Given the description of an element on the screen output the (x, y) to click on. 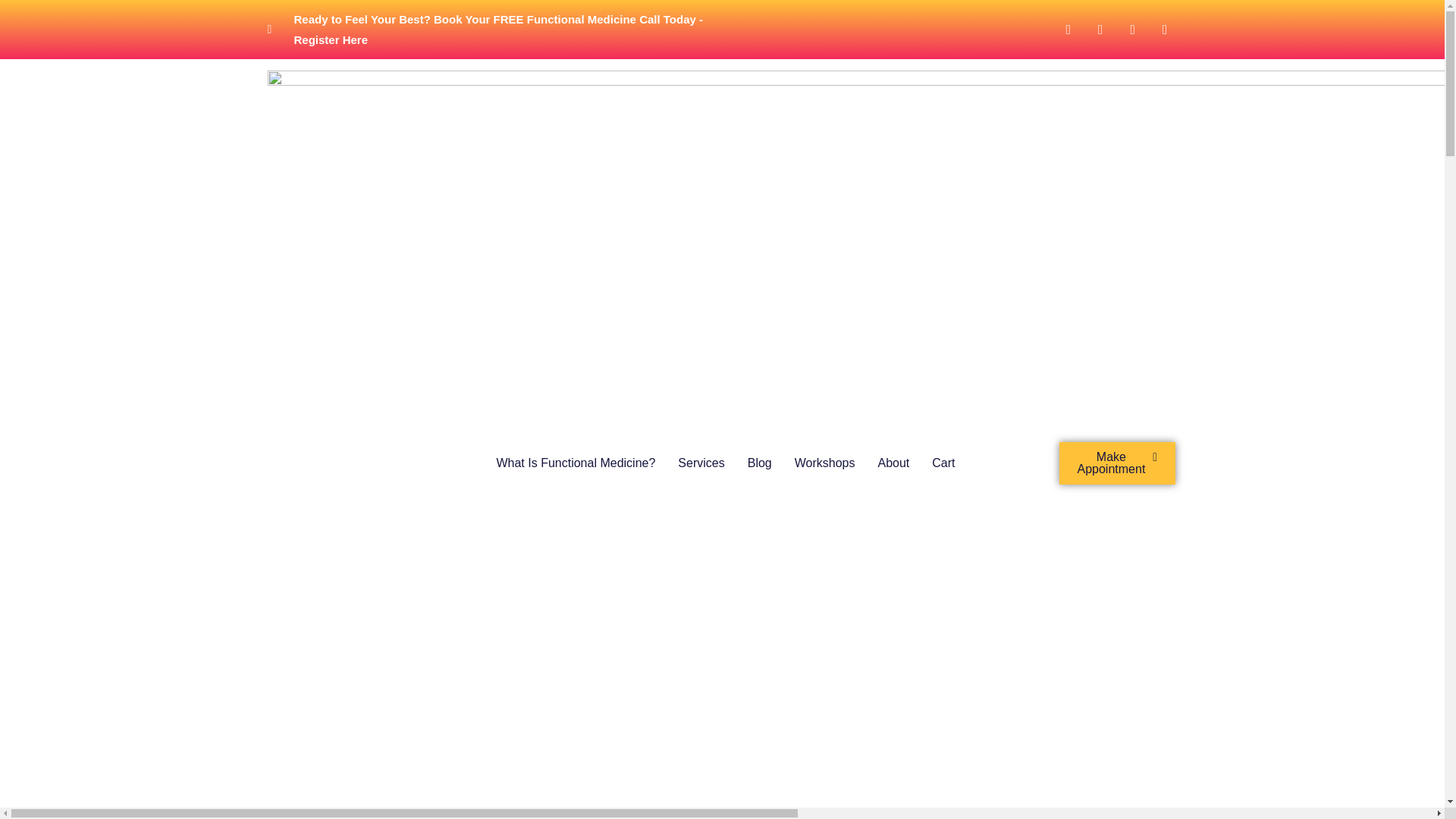
Services (700, 462)
What Is Functional Medicine? (575, 462)
About (892, 462)
Workshops (825, 462)
